Given the description of an element on the screen output the (x, y) to click on. 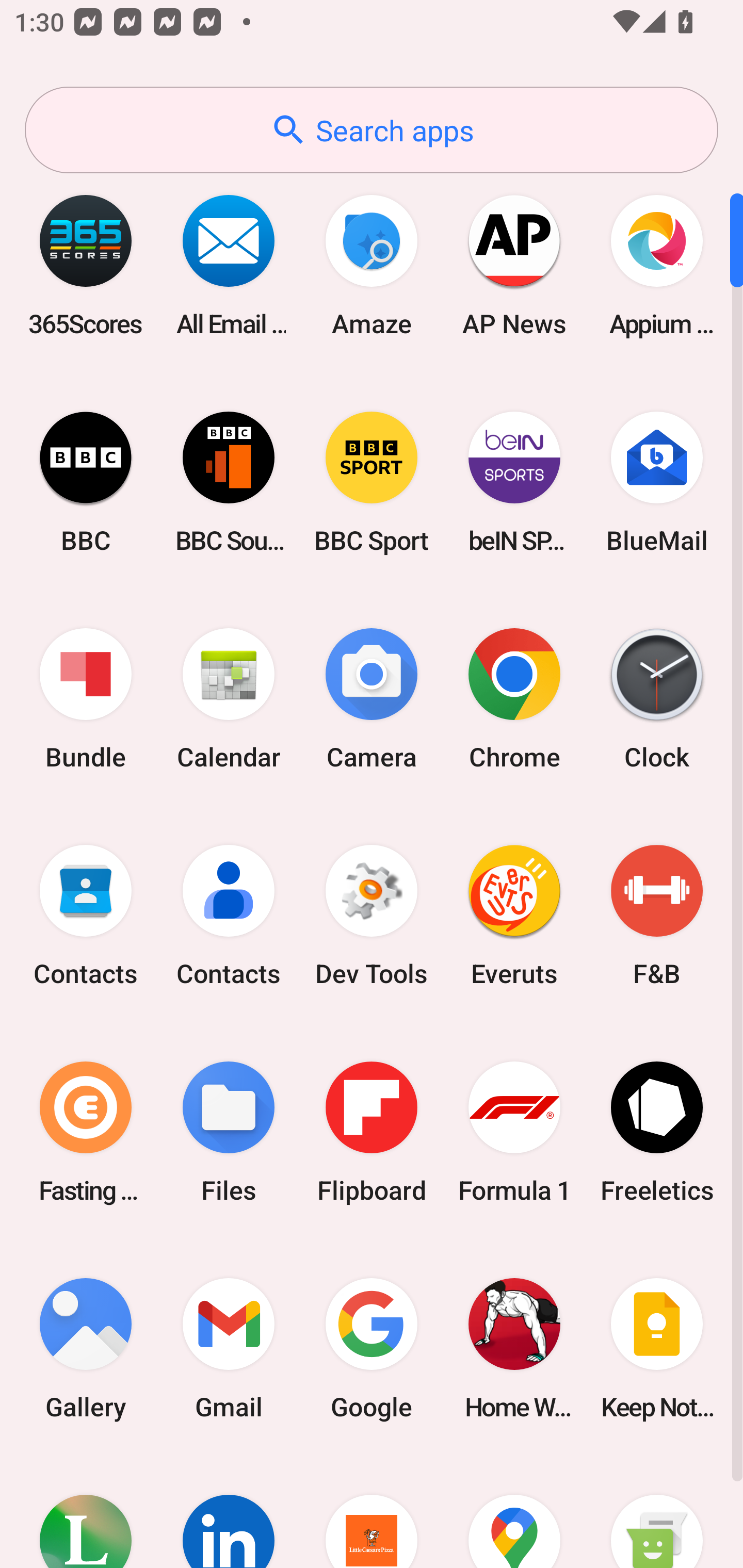
  Search apps (371, 130)
365Scores (85, 264)
All Email Connect (228, 264)
Amaze (371, 264)
AP News (514, 264)
Appium Settings (656, 264)
BBC (85, 482)
BBC Sounds (228, 482)
BBC Sport (371, 482)
beIN SPORTS (514, 482)
BlueMail (656, 482)
Bundle (85, 699)
Calendar (228, 699)
Camera (371, 699)
Chrome (514, 699)
Clock (656, 699)
Contacts (85, 915)
Contacts (228, 915)
Dev Tools (371, 915)
Everuts (514, 915)
F&B (656, 915)
Fasting Coach (85, 1131)
Files (228, 1131)
Flipboard (371, 1131)
Formula 1 (514, 1131)
Freeletics (656, 1131)
Gallery (85, 1348)
Gmail (228, 1348)
Google (371, 1348)
Home Workout (514, 1348)
Keep Notes (656, 1348)
Lifesum (85, 1512)
LinkedIn (228, 1512)
Little Caesars Pizza (371, 1512)
Maps (514, 1512)
Messaging (656, 1512)
